Given the description of an element on the screen output the (x, y) to click on. 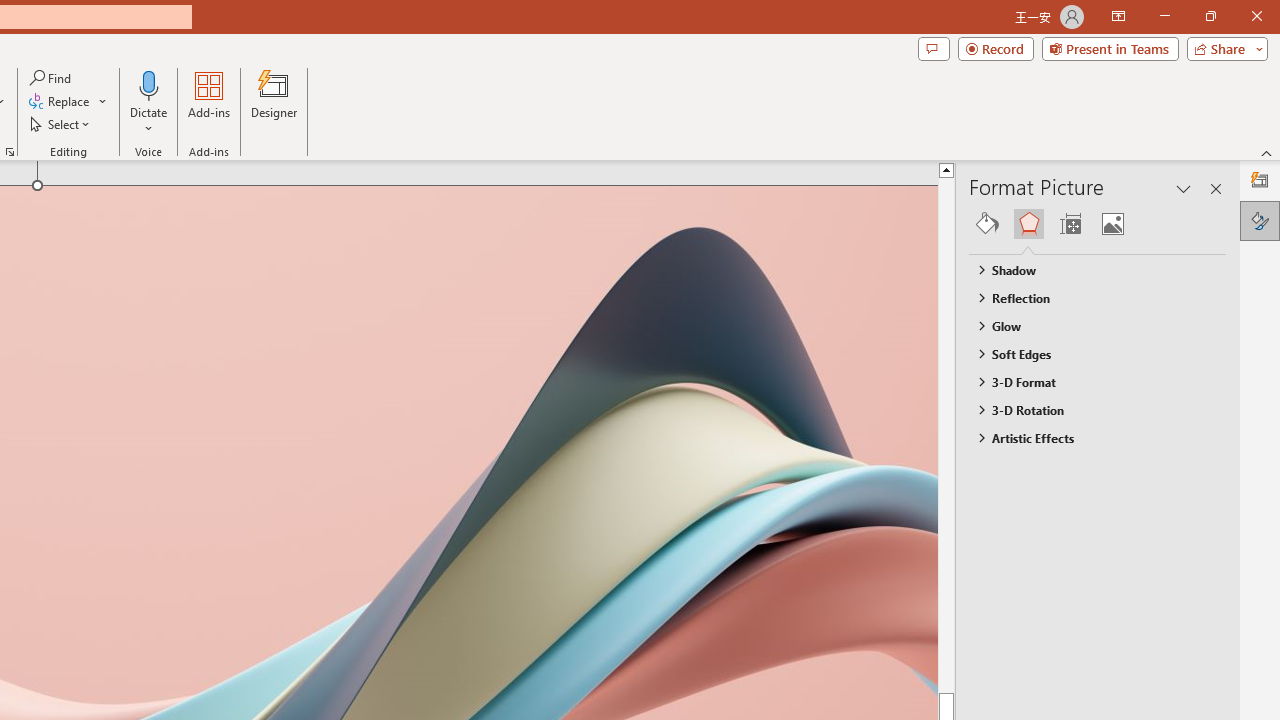
Size & Properties (1070, 223)
Fill & Line (987, 223)
Close (1256, 16)
Task Pane Options (1183, 188)
Soft Edges (1088, 353)
More Options (149, 121)
Reflection (1088, 297)
Line up (983, 169)
Restore Down (1210, 16)
Designer (274, 102)
Picture (1112, 223)
Collapse the Ribbon (1267, 152)
Present in Teams (1109, 48)
Comments (933, 48)
3-D Rotation (1088, 410)
